Given the description of an element on the screen output the (x, y) to click on. 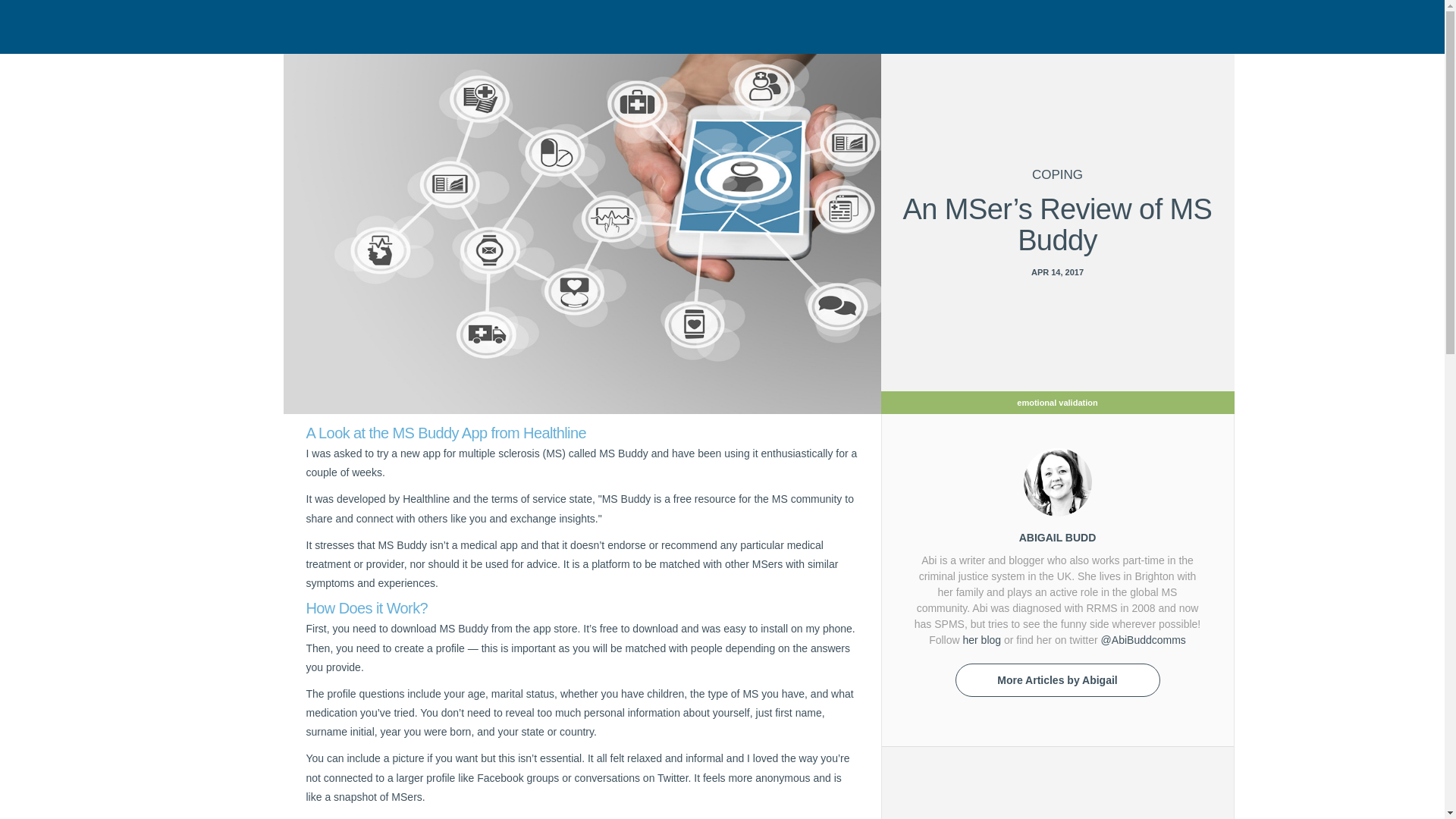
ABIGAIL BUDD (1057, 536)
COPING (1057, 175)
More Articles by Abigail (1057, 679)
emotional validation (1056, 401)
her blog (981, 639)
